Given the description of an element on the screen output the (x, y) to click on. 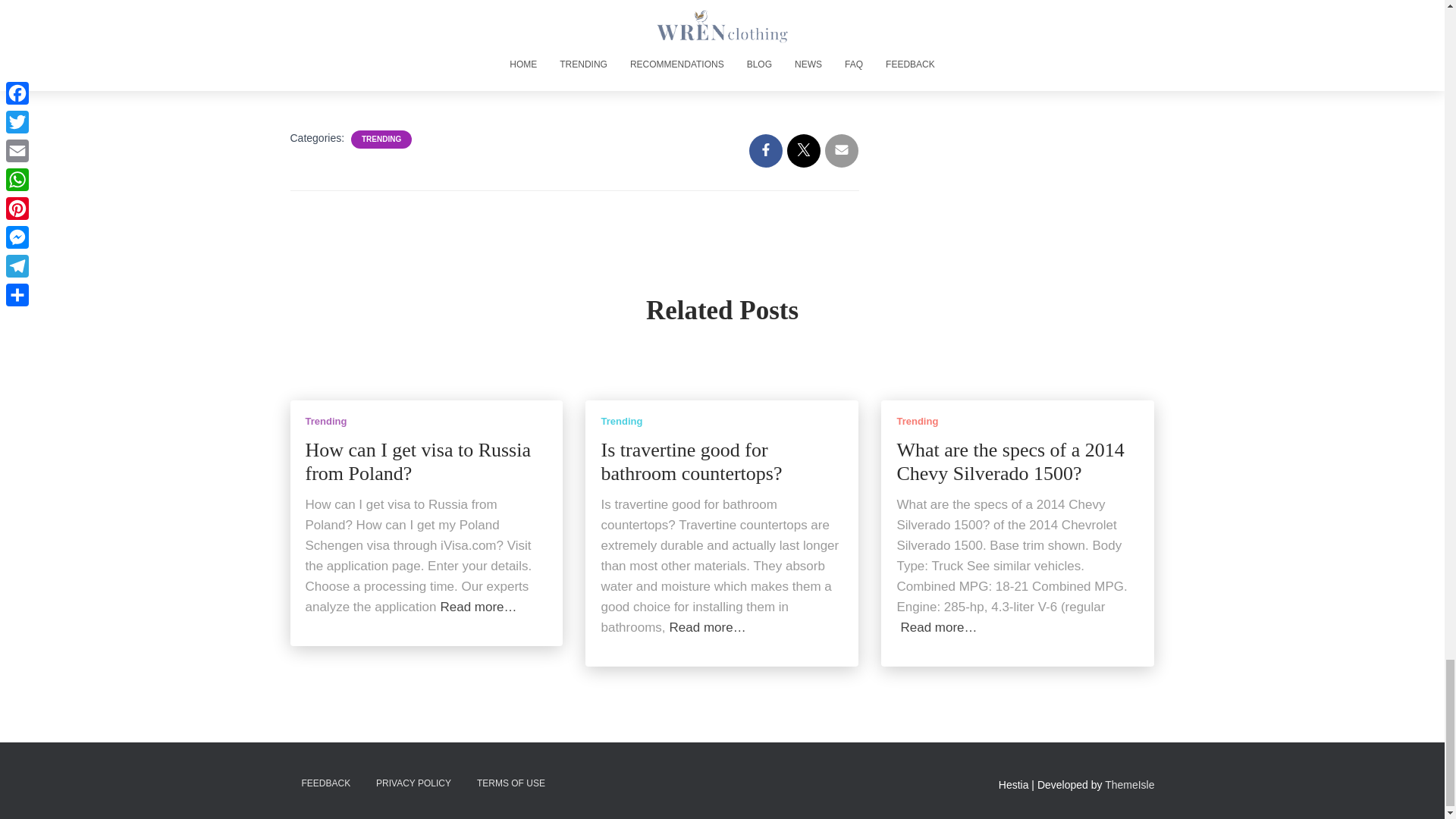
Messenger (448, 69)
Pinterest (418, 69)
Twitter (332, 69)
Telegram (477, 69)
Facebook (303, 69)
Facebook (303, 69)
Email (361, 69)
TRENDING (381, 139)
WhatsApp (389, 69)
